Given the description of an element on the screen output the (x, y) to click on. 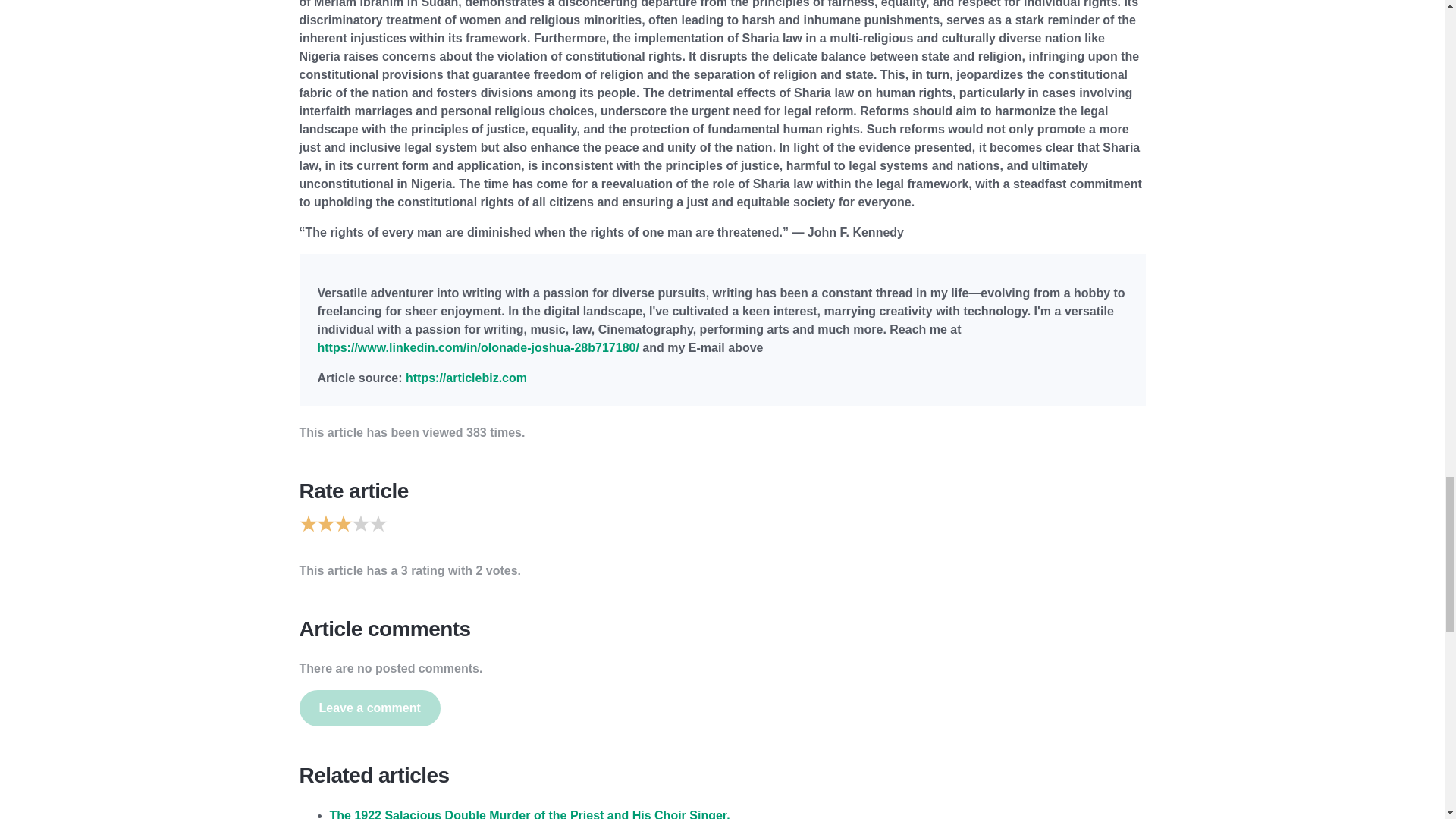
Leave a comment (368, 708)
